Given the description of an element on the screen output the (x, y) to click on. 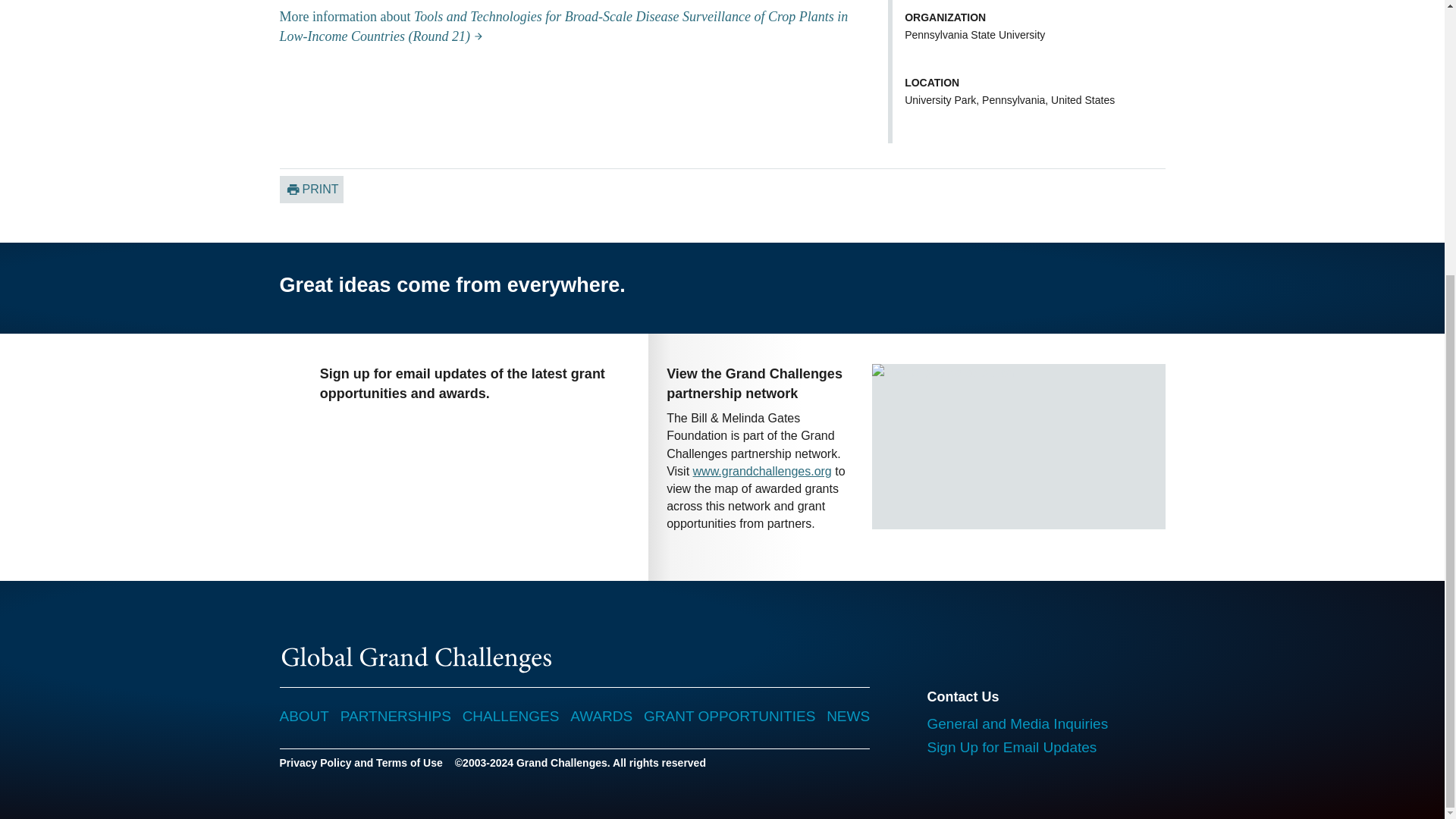
PRINT (310, 189)
AWARDS (600, 715)
ABOUT (304, 715)
www.grandchallenges.org (762, 471)
PARTNERSHIPS (395, 715)
NEWS (848, 715)
GRANT OPPORTUNITIES (729, 715)
CHALLENGES (511, 715)
General and Media Inquiries (1017, 723)
Sign Up for Email Updates (1011, 747)
Privacy Policy and Terms of Use (360, 762)
Newsletter Signup (449, 472)
